Given the description of an element on the screen output the (x, y) to click on. 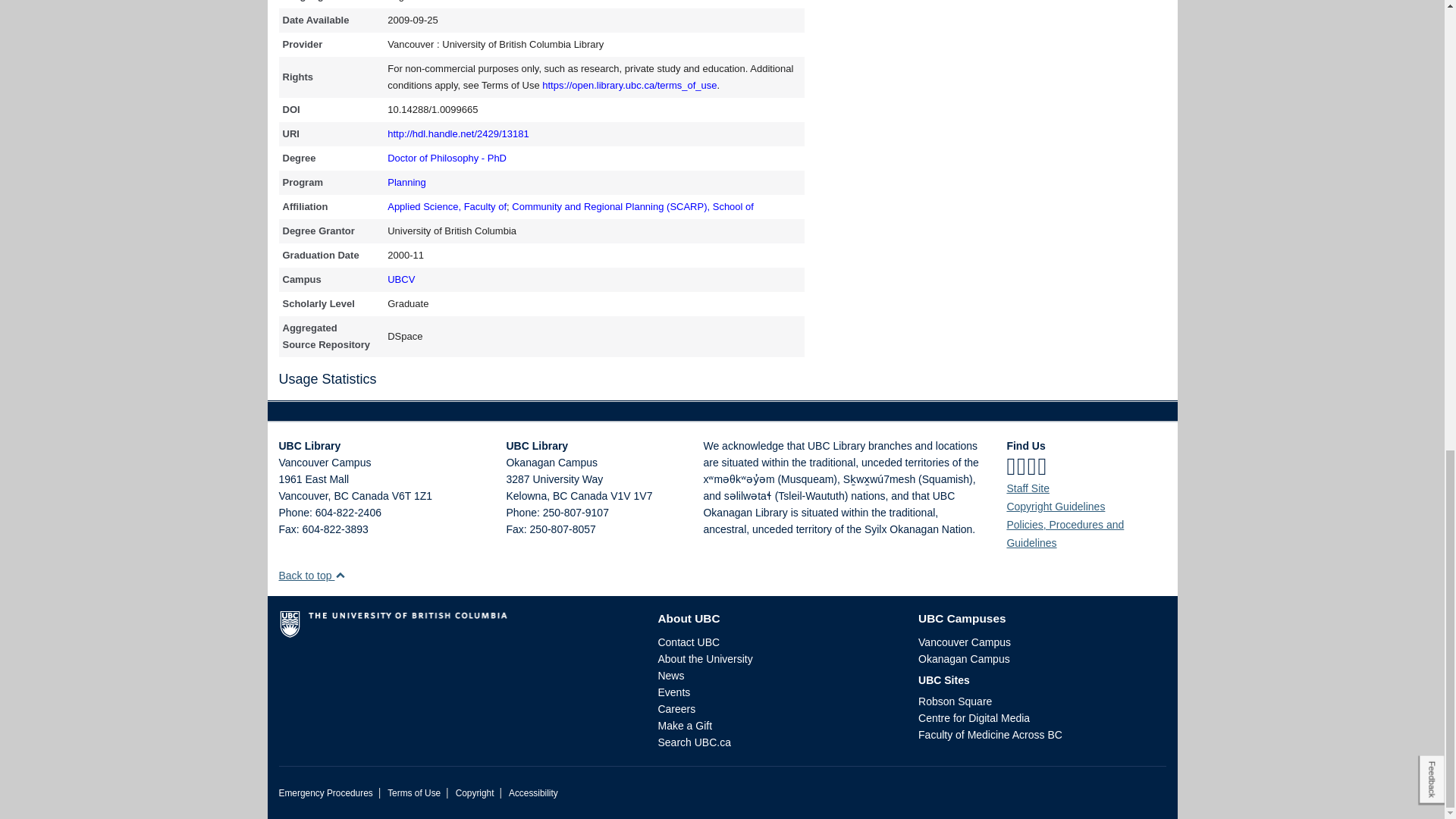
Instagram icon (1031, 466)
Youtube icon (1041, 466)
Facebook icon (1010, 466)
Twitter icon (1021, 466)
British Columbia (560, 495)
British Columbia (340, 495)
